Given the description of an element on the screen output the (x, y) to click on. 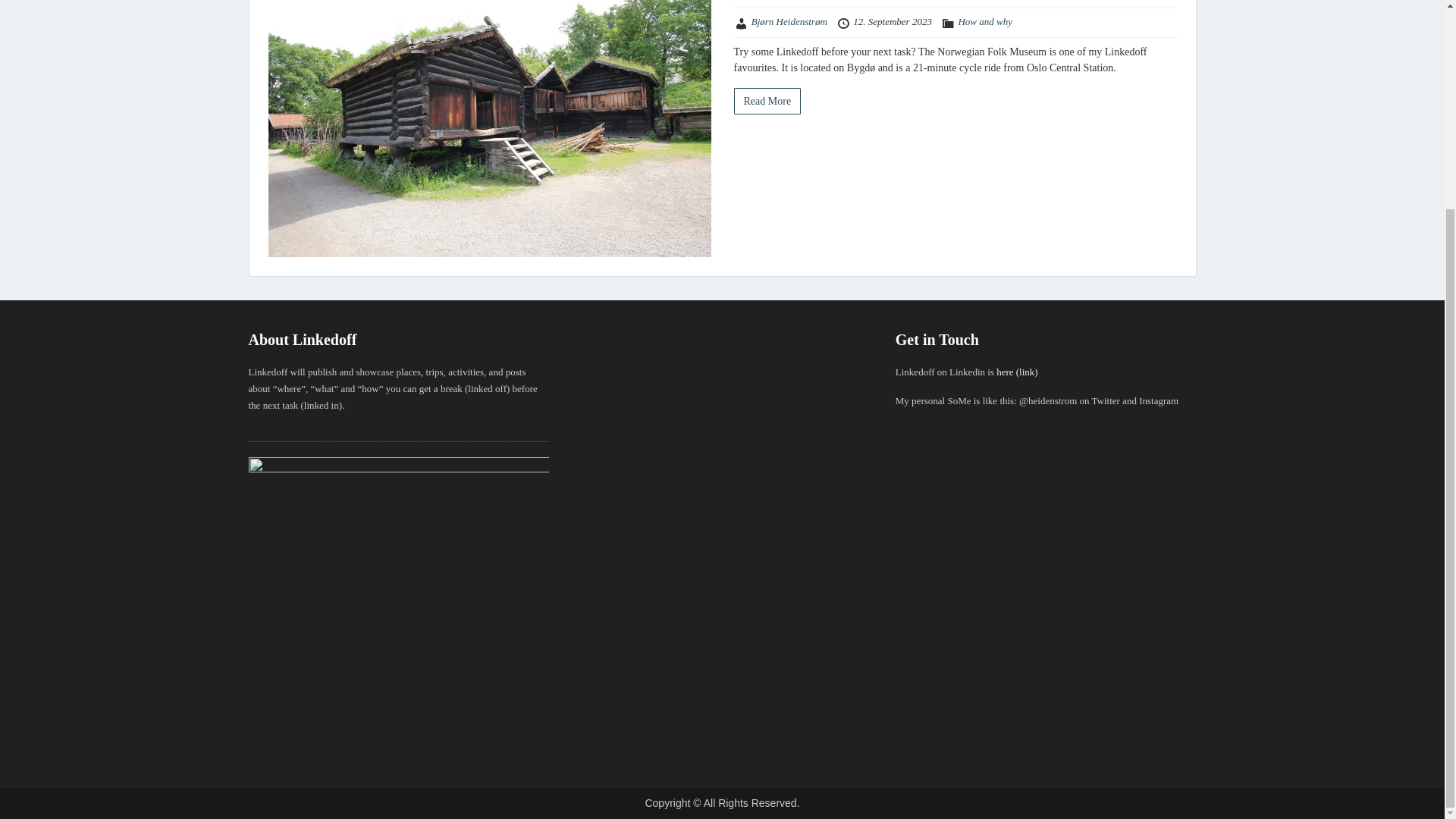
Read More (767, 100)
How and why (984, 21)
How and why (984, 21)
